Given the description of an element on the screen output the (x, y) to click on. 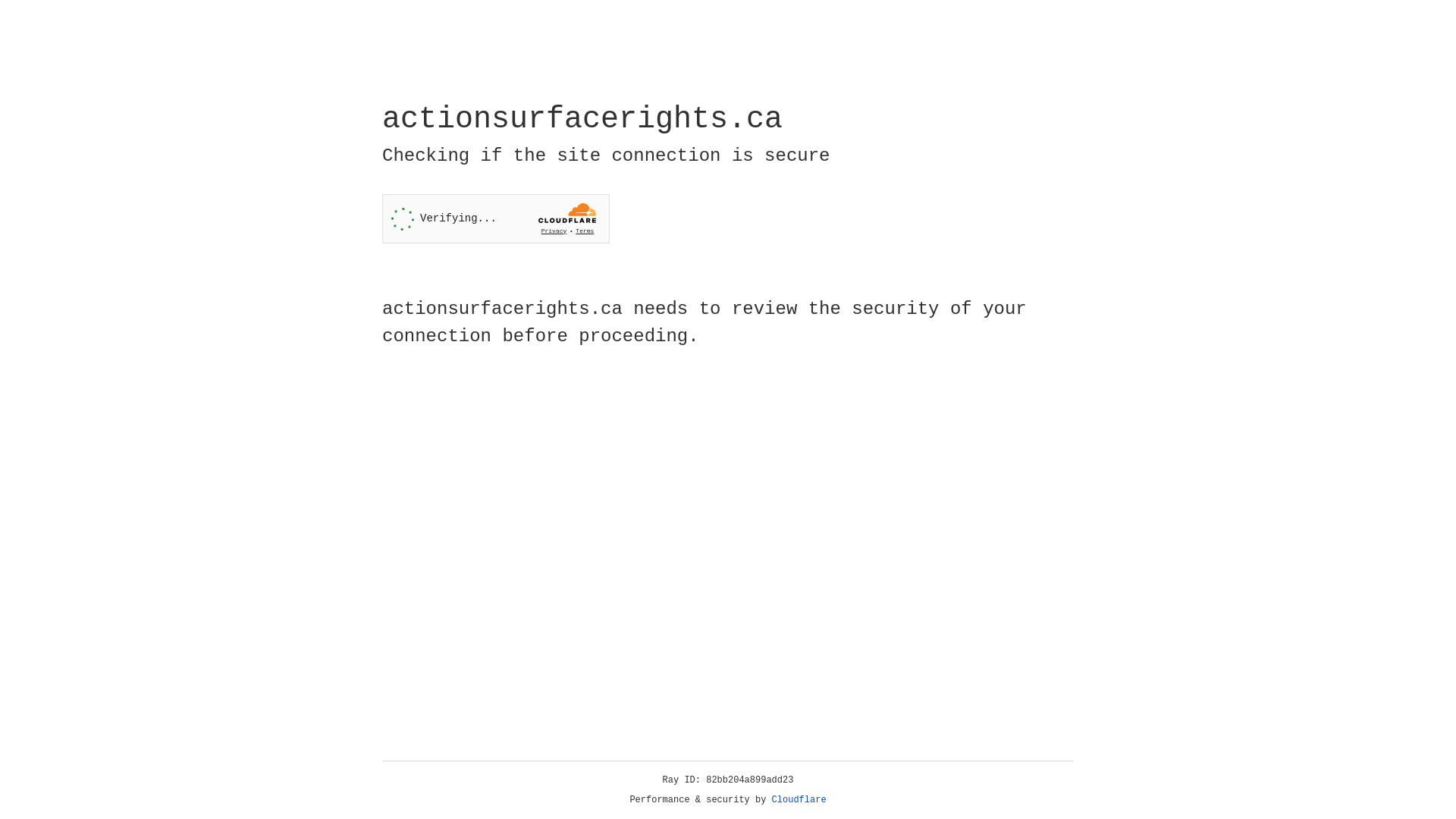
Cloudflare Element type: text (798, 799)
Widget containing a Cloudflare security challenge Element type: hover (495, 218)
